Given the description of an element on the screen output the (x, y) to click on. 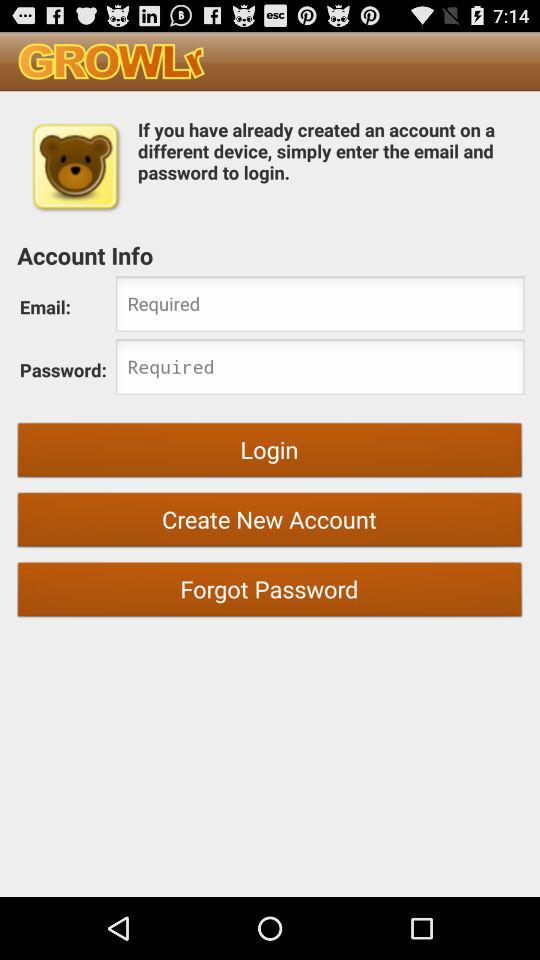
click the create new account item (269, 521)
